Given the description of an element on the screen output the (x, y) to click on. 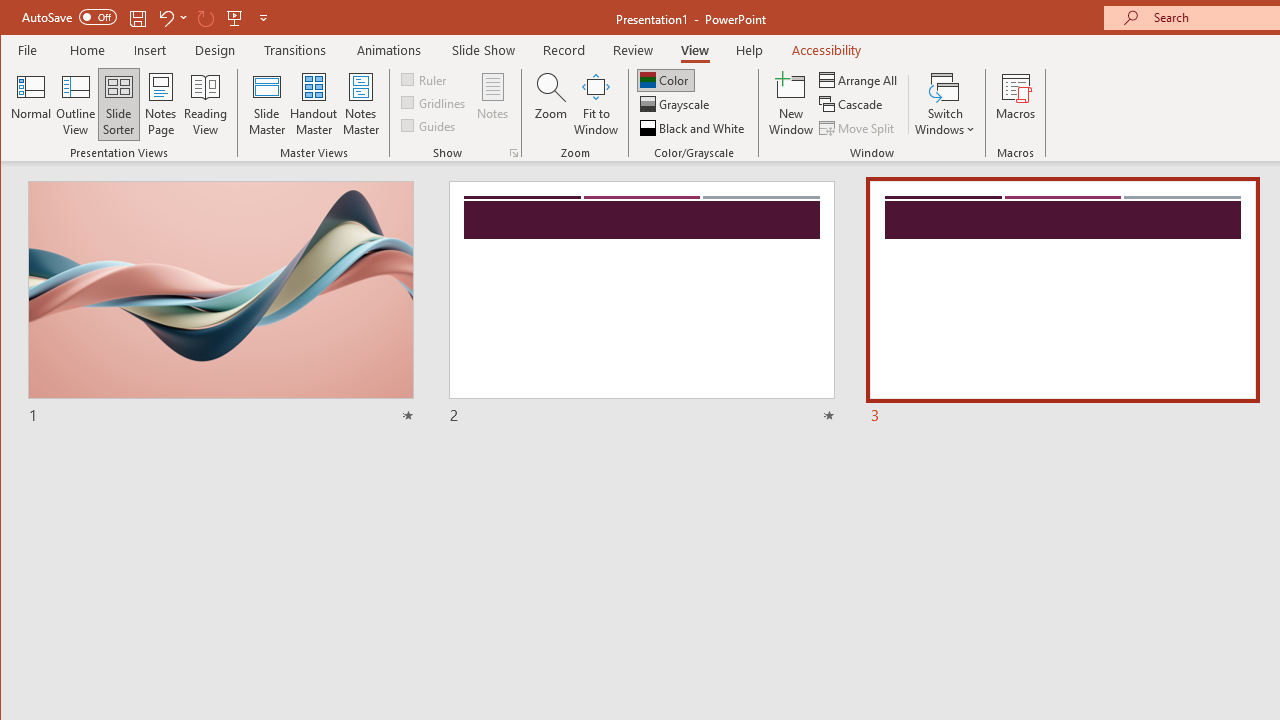
Outline View (75, 104)
Cascade (852, 103)
Notes Master (360, 104)
Ruler (425, 78)
Notes Page (160, 104)
Switch Windows (944, 104)
Fit to Window (596, 104)
Color (666, 80)
Handout Master (314, 104)
Black and White (694, 127)
